Given the description of an element on the screen output the (x, y) to click on. 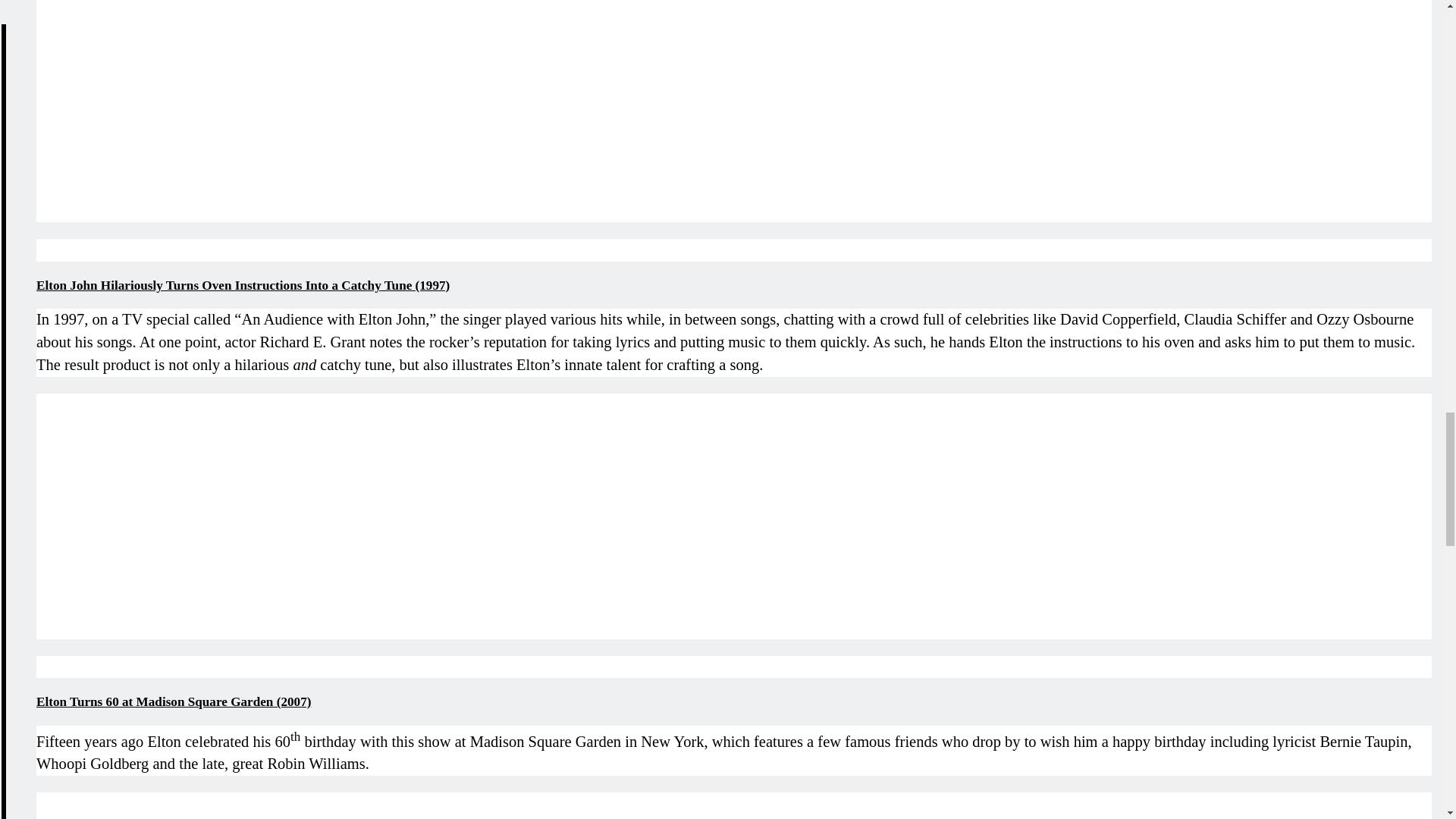
YouTube video player (248, 805)
